Given the description of an element on the screen output the (x, y) to click on. 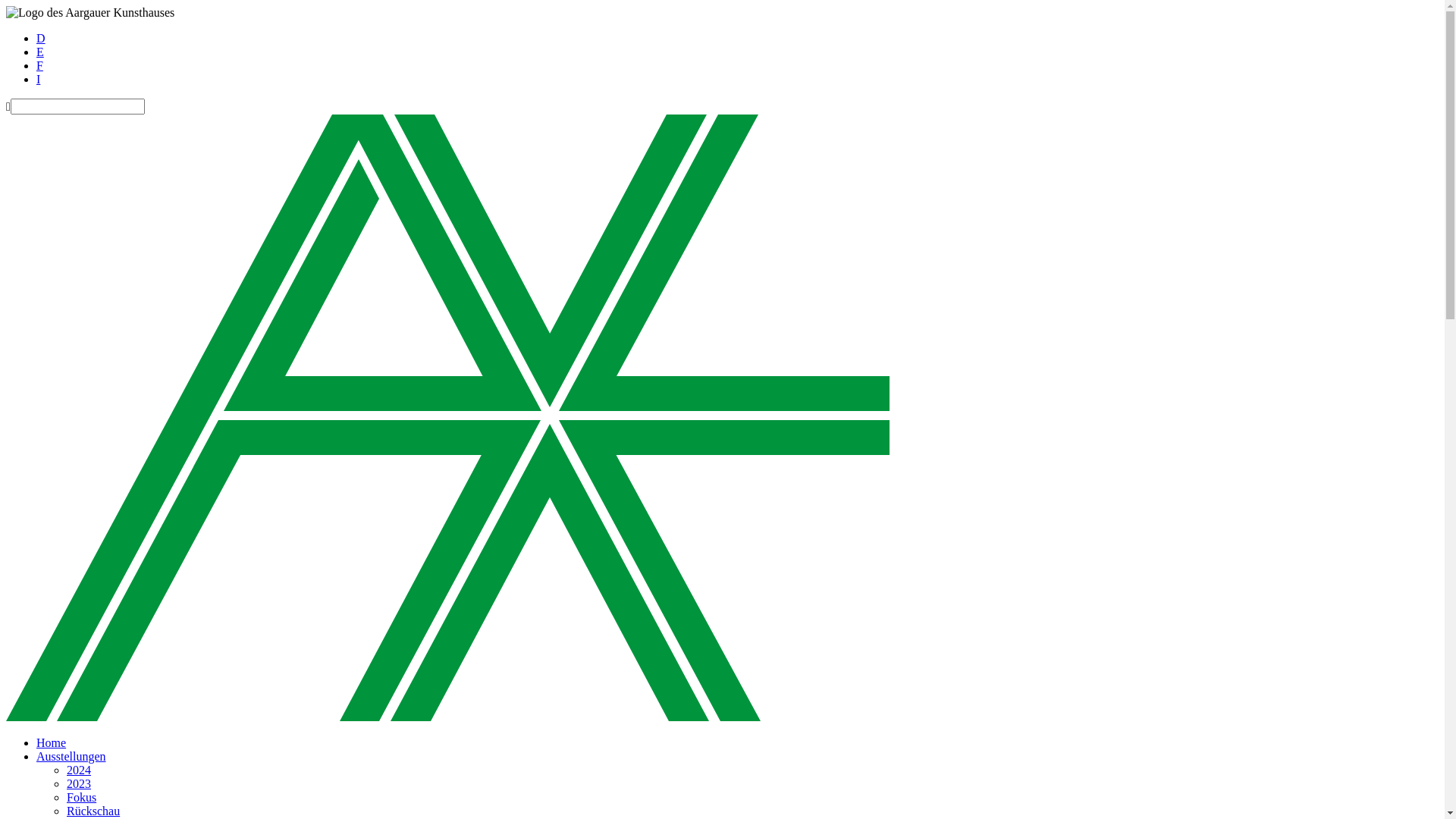
E Element type: text (39, 51)
Aargauer Kunsthaus Element type: hover (90, 12)
Home Element type: text (50, 742)
2024 Element type: text (78, 769)
2023 Element type: text (78, 783)
F Element type: text (39, 65)
Ausstellungen Element type: text (71, 755)
I Element type: text (38, 78)
D Element type: text (40, 37)
Aargauer Kunsthaus Element type: hover (447, 417)
Fokus Element type: text (81, 796)
